Given the description of an element on the screen output the (x, y) to click on. 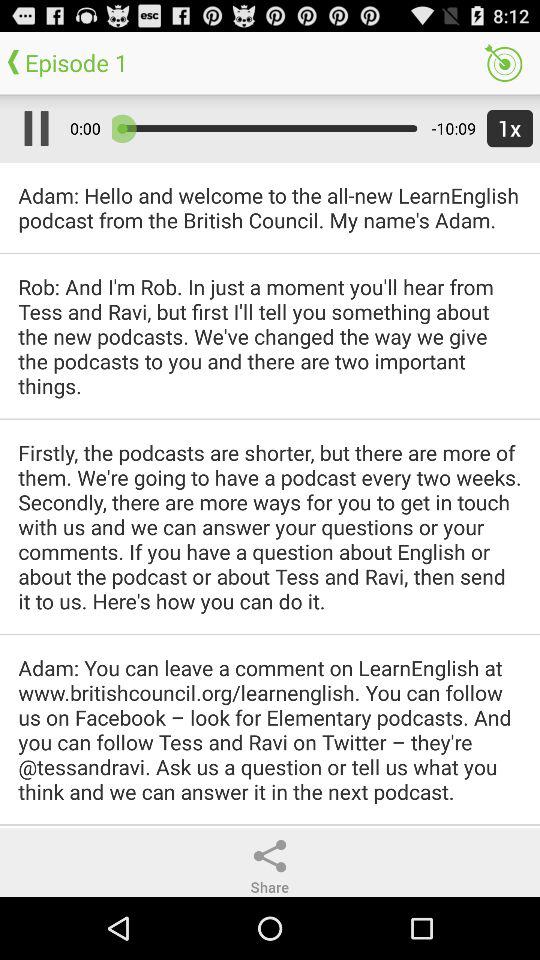
share the article (270, 856)
